Given the description of an element on the screen output the (x, y) to click on. 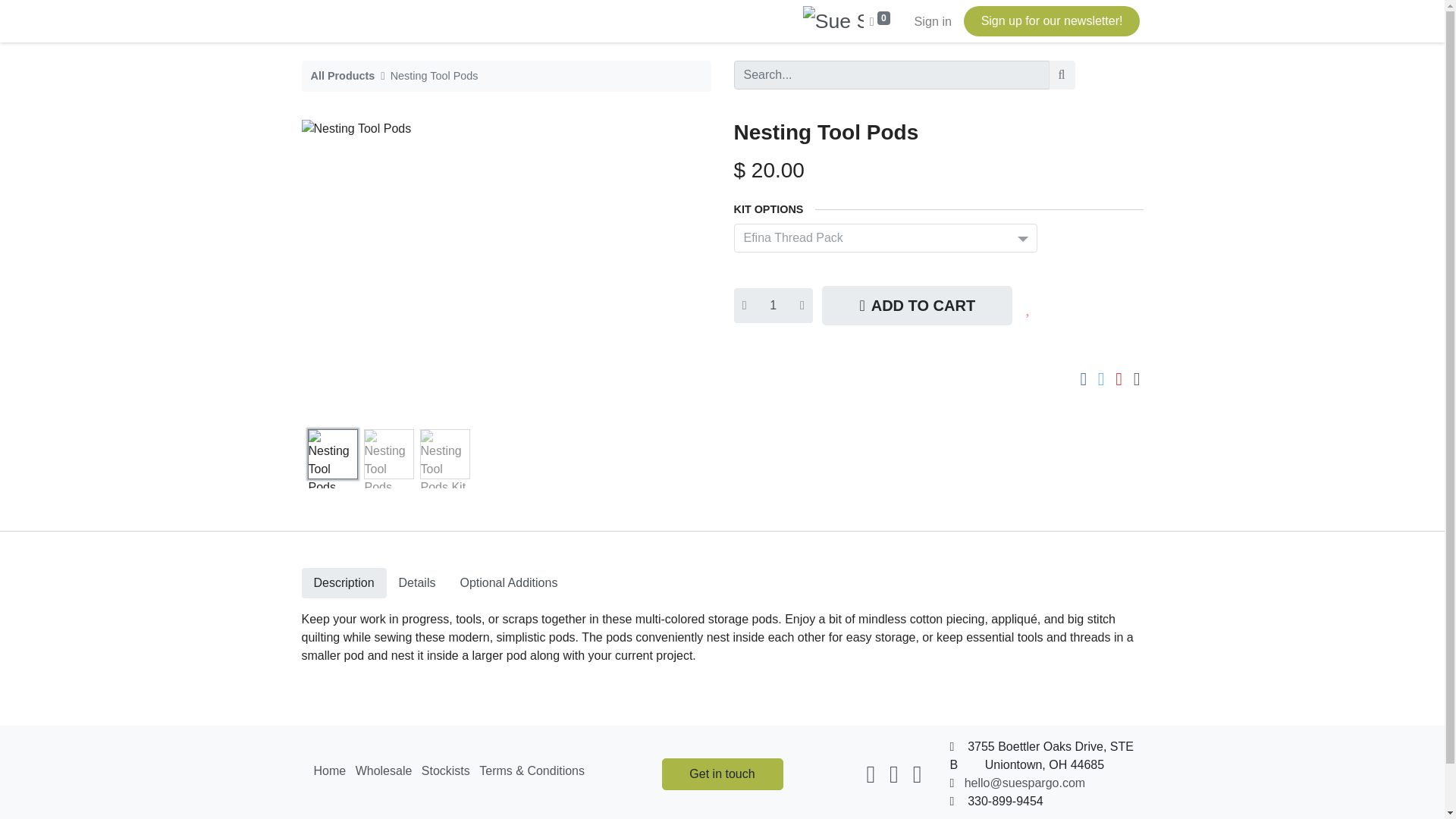
Sue Spargo Folk Art Quilts (833, 20)
Sign up for our newsletter! (1051, 20)
Search (1061, 74)
ADD TO CART (916, 305)
Description (344, 583)
Details (417, 583)
0 (879, 20)
1 (773, 305)
Optional Additions (507, 583)
All Products (343, 75)
Sign in (933, 20)
